Given the description of an element on the screen output the (x, y) to click on. 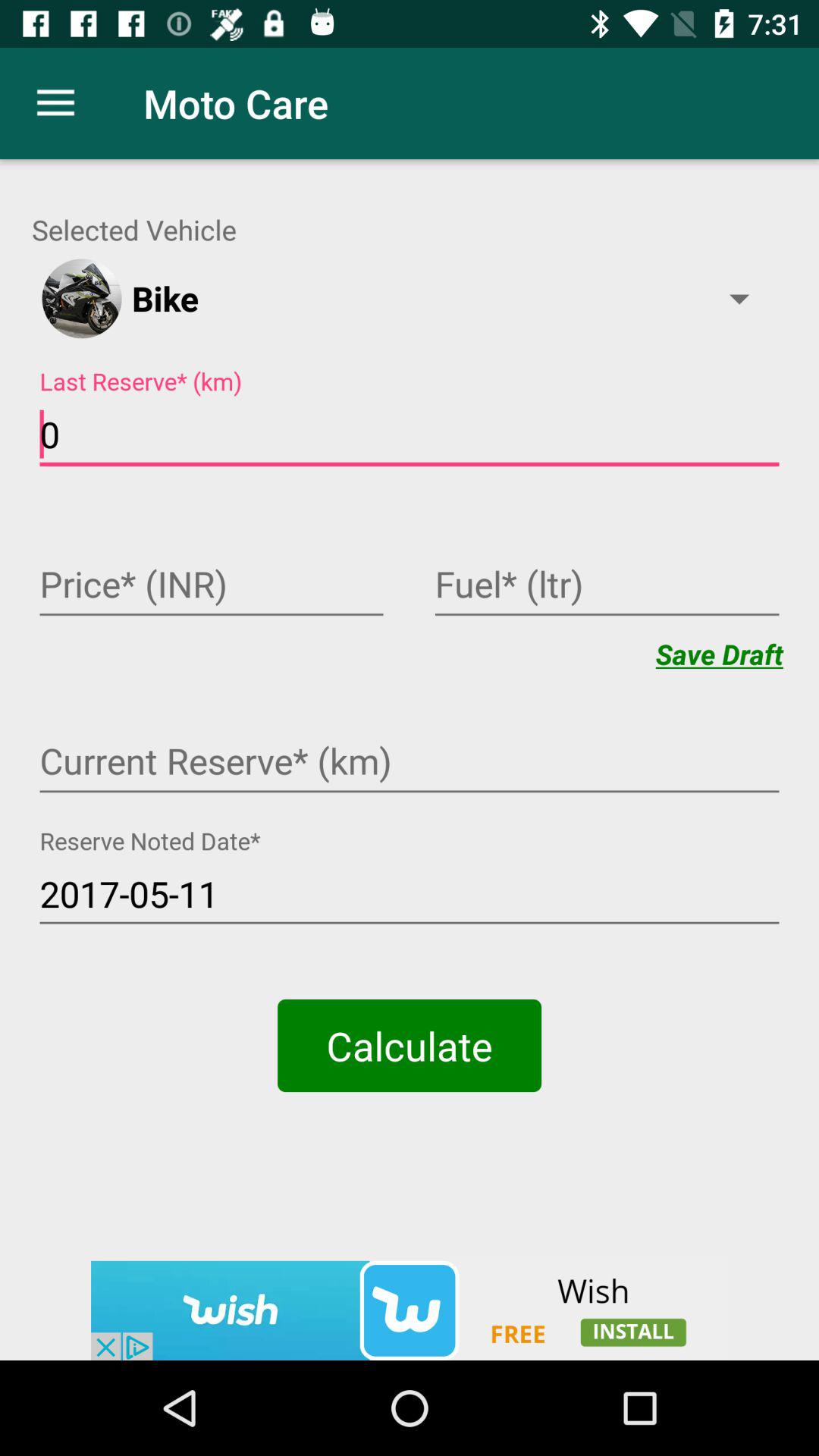
select price (211, 586)
